Given the description of an element on the screen output the (x, y) to click on. 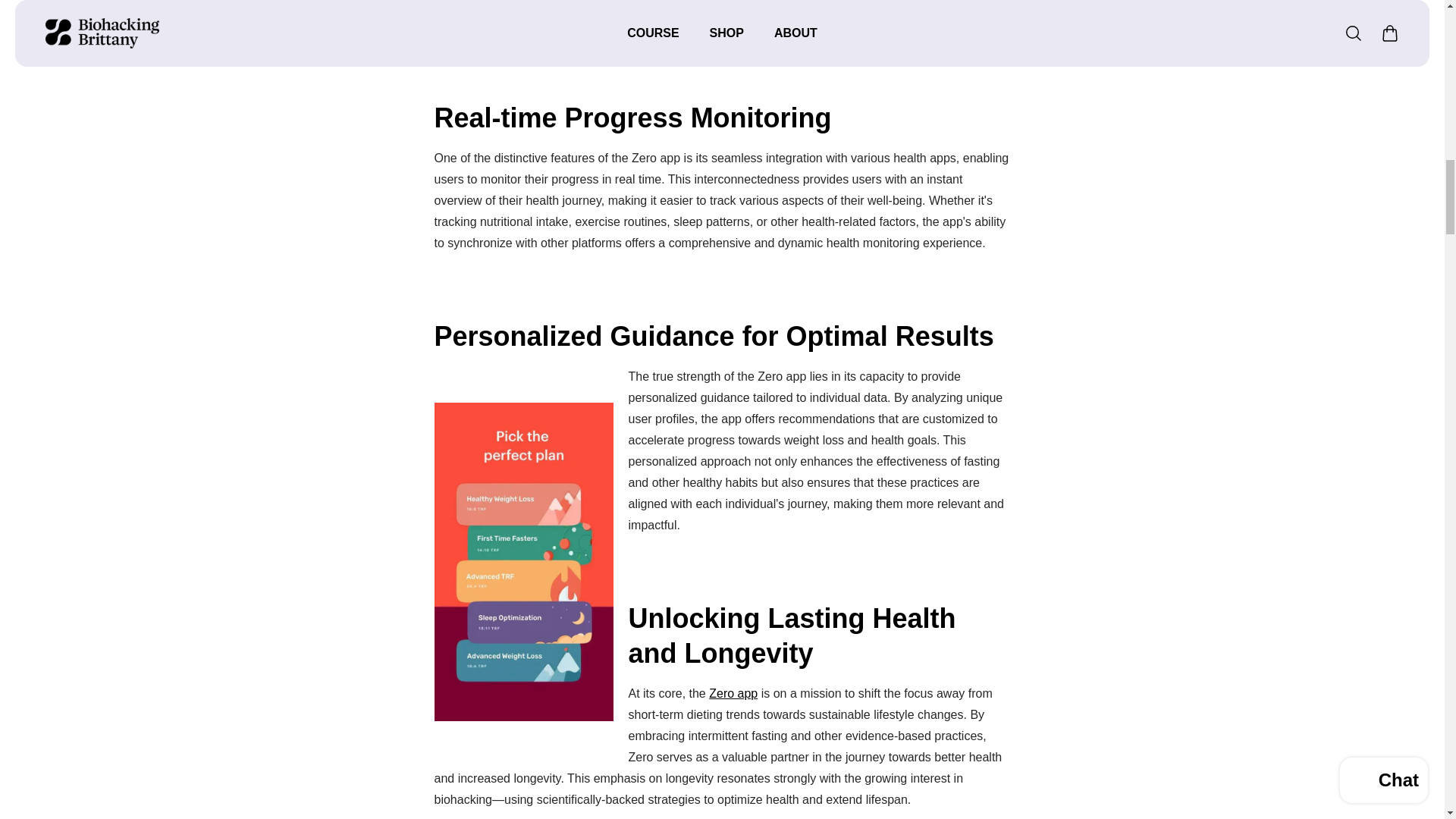
Zero app (733, 693)
zero app longevity fasting (733, 693)
